Given the description of an element on the screen output the (x, y) to click on. 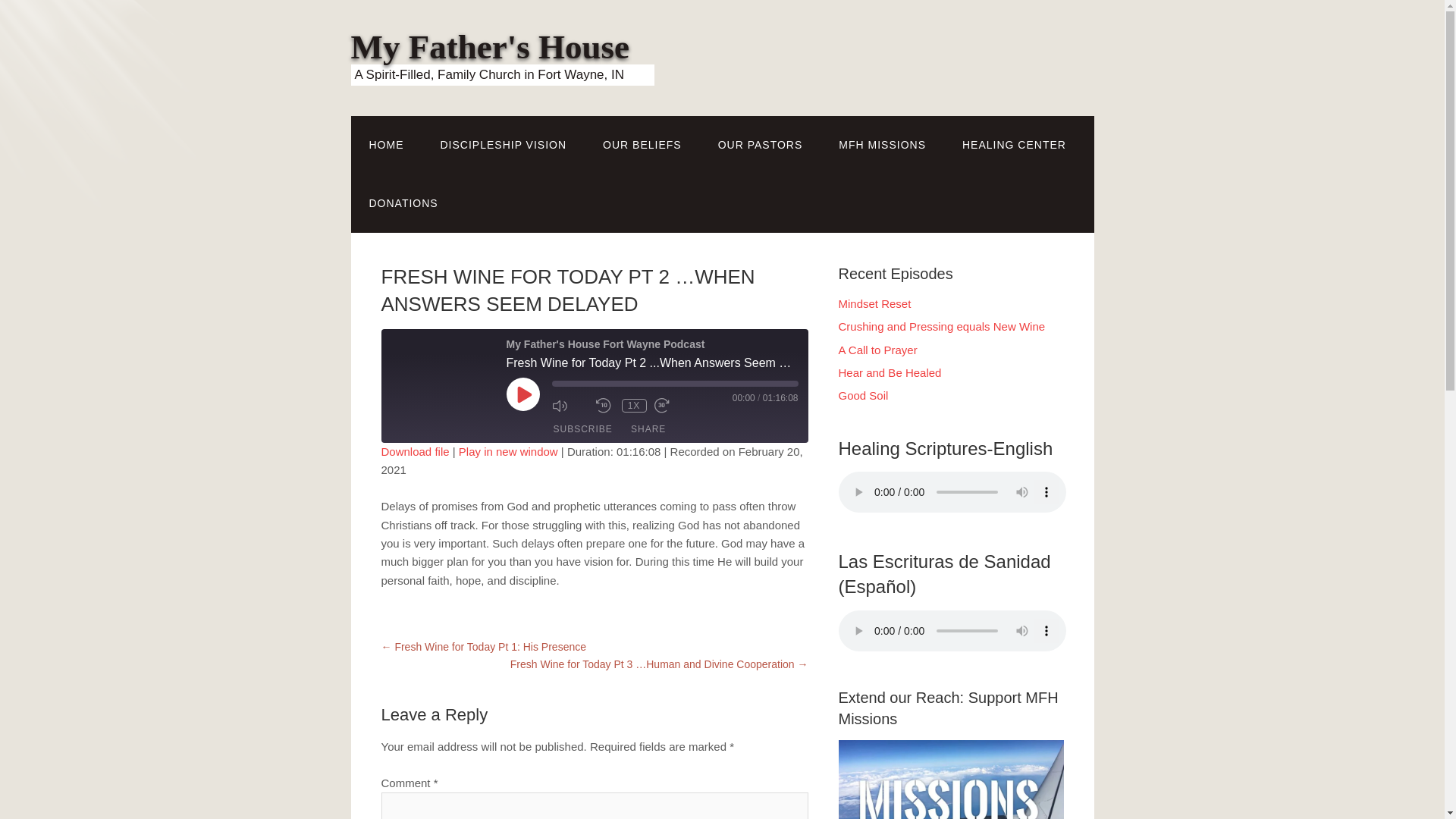
Fast Forward 30 seconds (671, 405)
Hear and Be Healed (890, 372)
My Father's House (489, 46)
SHARE (647, 428)
HOME (386, 145)
Download file (414, 451)
OUR BELIEFS (642, 145)
Crushing and Pressing equals New Wine (941, 326)
OUR PASTORS (760, 145)
FAST FORWARD 30 SECONDS (671, 405)
